Given the description of an element on the screen output the (x, y) to click on. 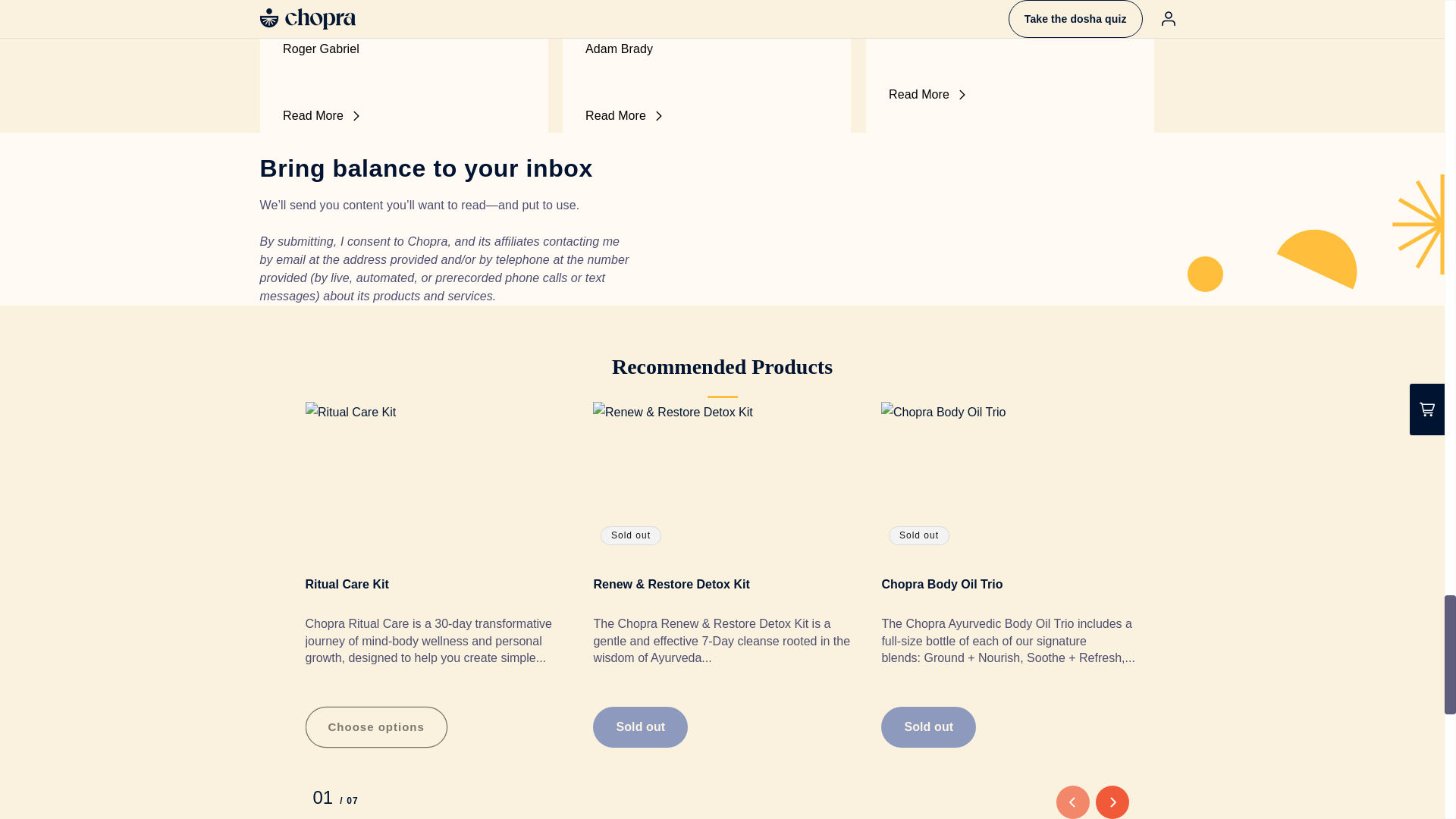
Read More (703, 116)
Purushartha: The 4 Aims of Human Life (403, 13)
Roger Gabriel (403, 49)
Read More (400, 116)
Adam Brady (706, 49)
4 Ways to Interrupt Negative Thinking (706, 13)
